Given the description of an element on the screen output the (x, y) to click on. 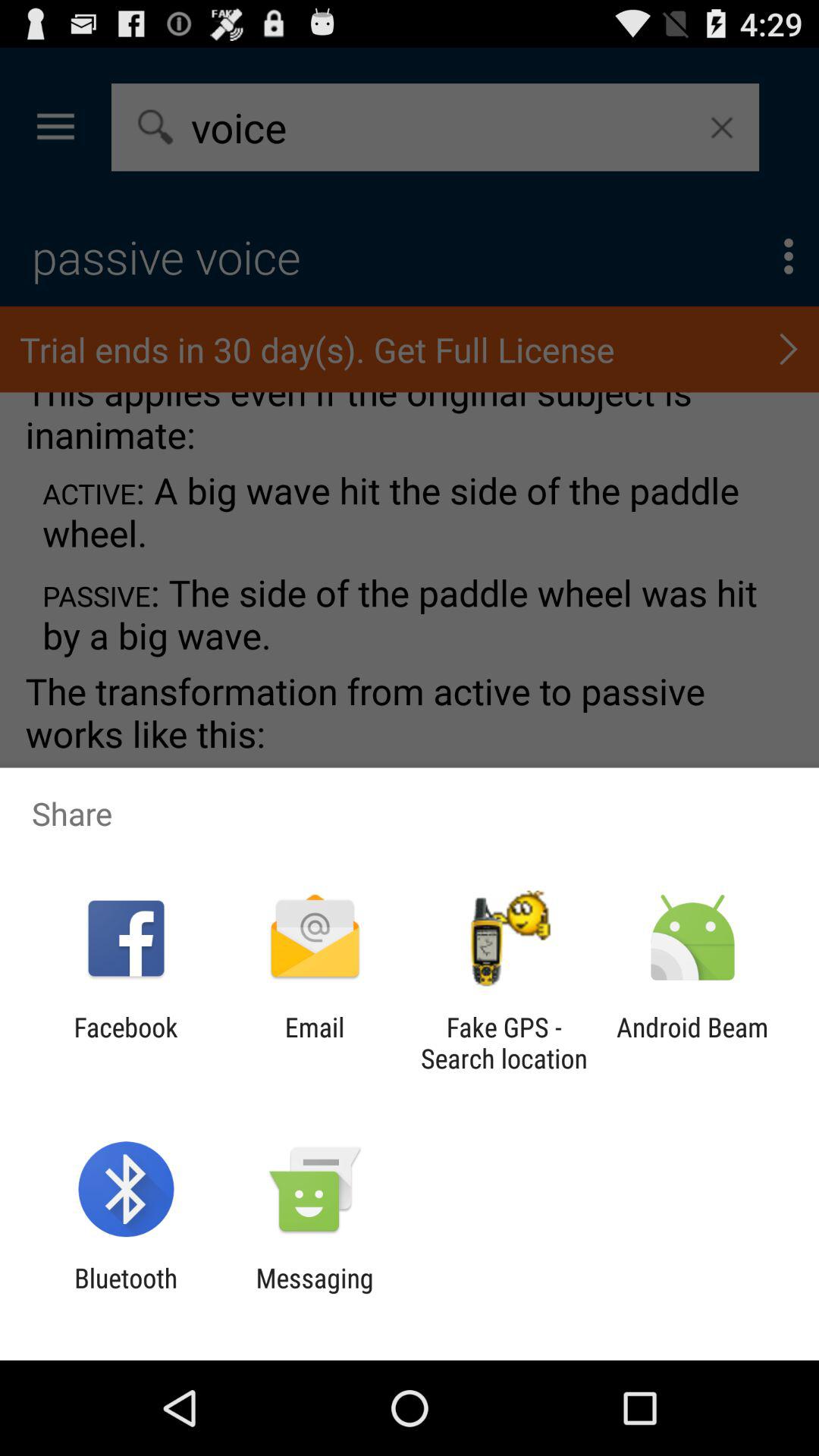
open the item at the bottom right corner (692, 1042)
